Given the description of an element on the screen output the (x, y) to click on. 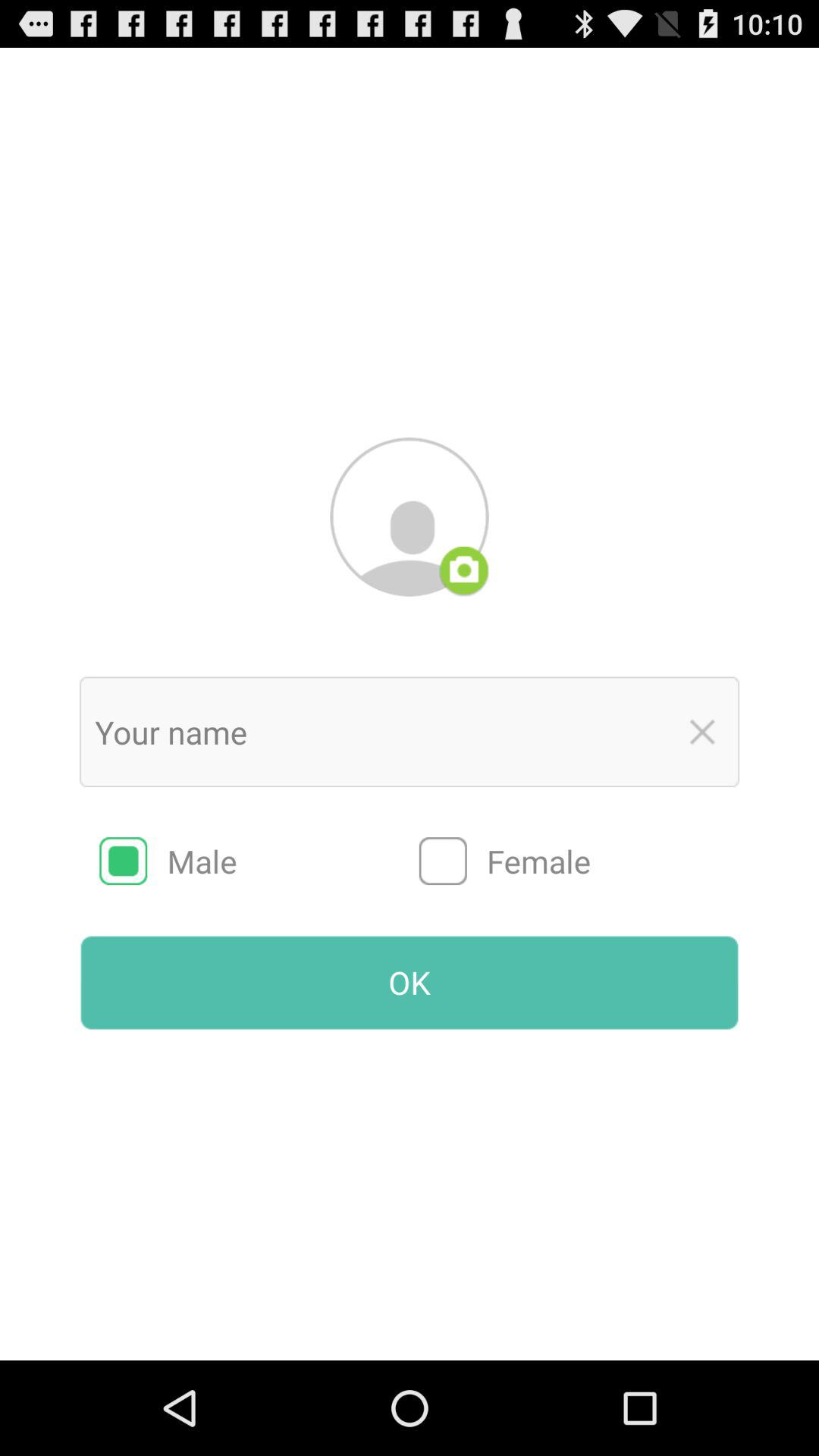
swipe until the female item (579, 860)
